Given the description of an element on the screen output the (x, y) to click on. 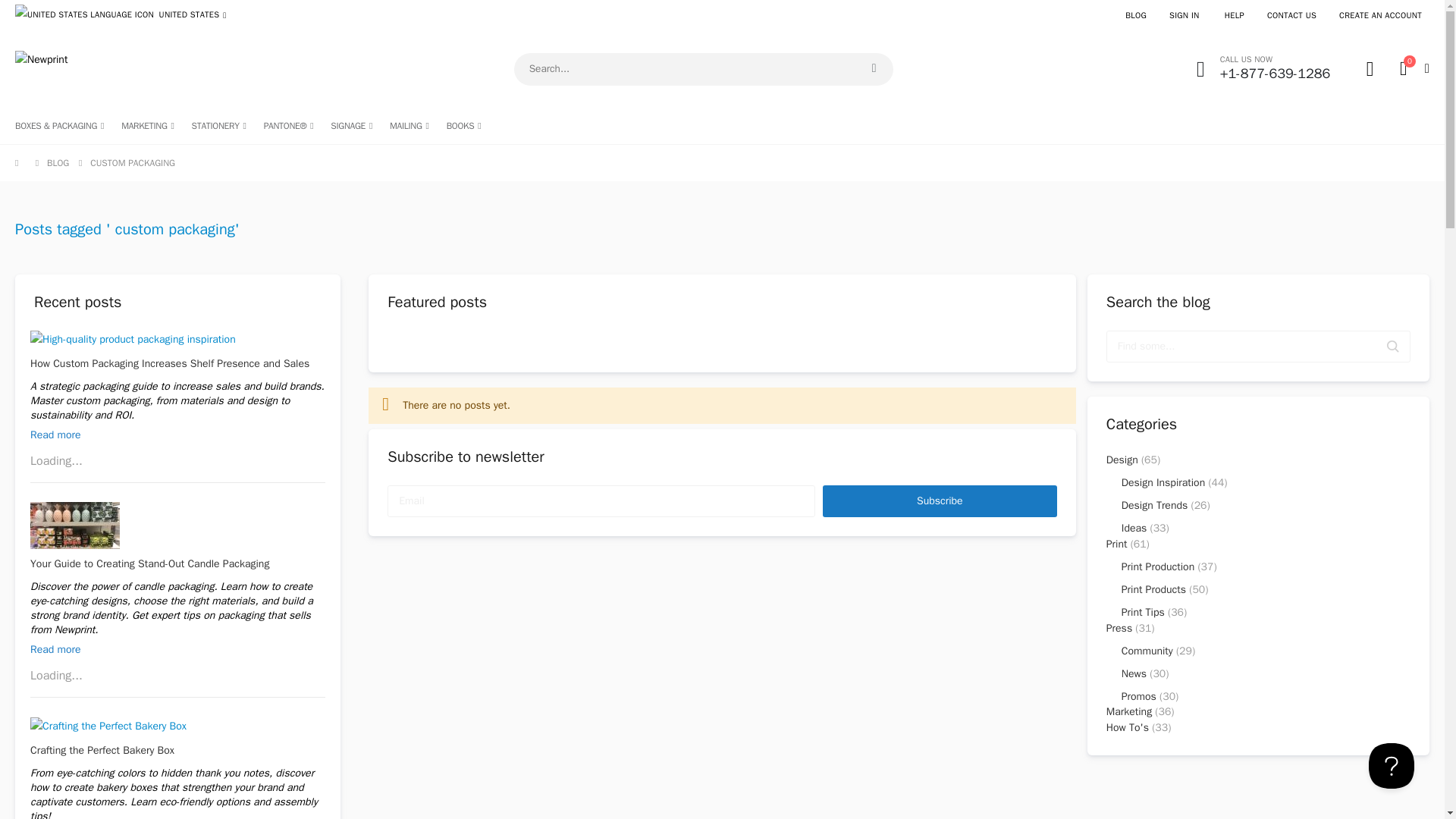
SIGN IN (1183, 14)
HELP (1233, 14)
CREATE AN ACCOUNT (1379, 14)
CONTACT US (1291, 14)
BLOG (1135, 14)
My Account (1369, 68)
Search (1411, 68)
Newprint (874, 68)
